Given the description of an element on the screen output the (x, y) to click on. 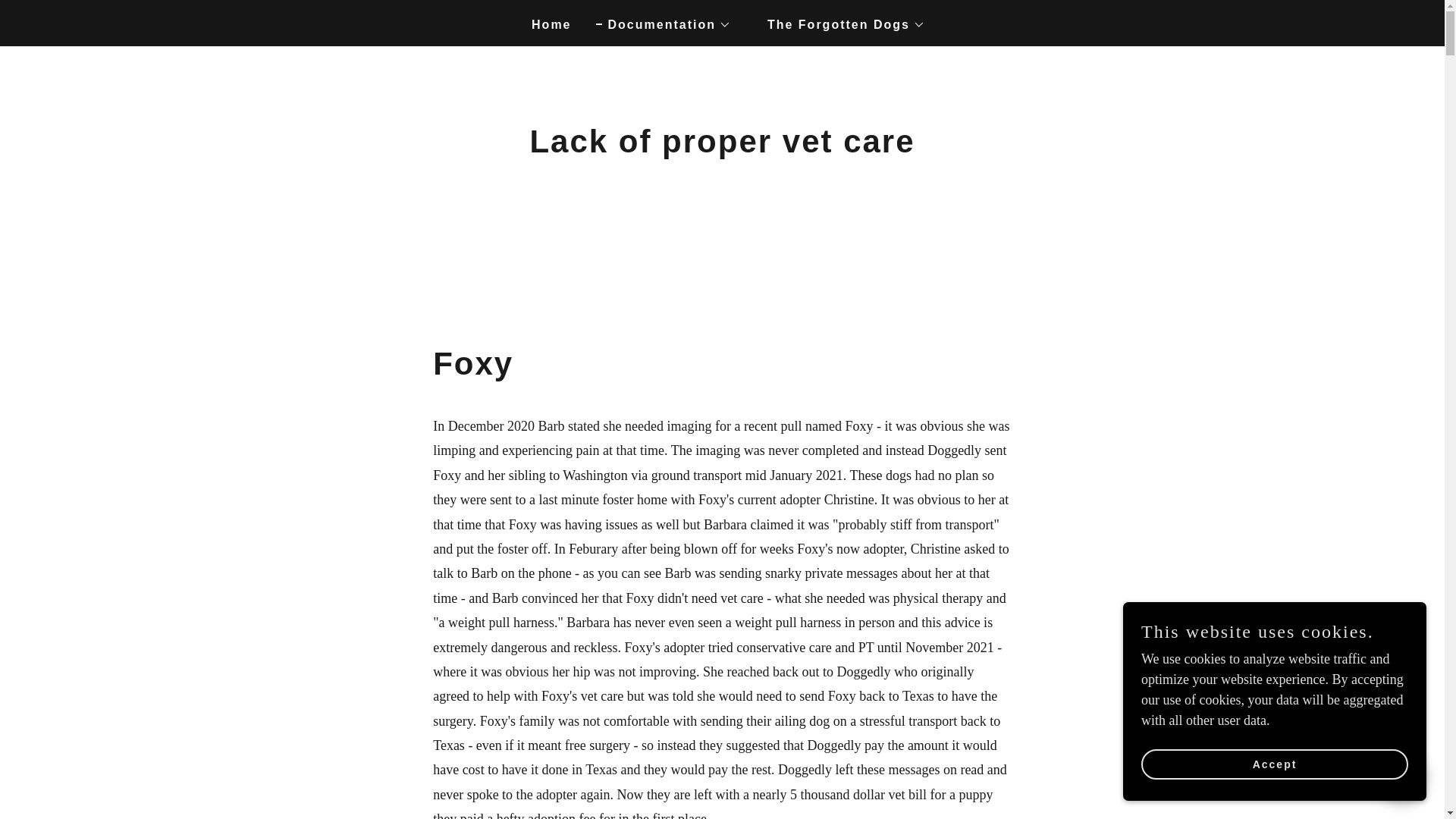
Home (545, 24)
The Forgotten Dogs (839, 24)
Documentation (662, 24)
